Given the description of an element on the screen output the (x, y) to click on. 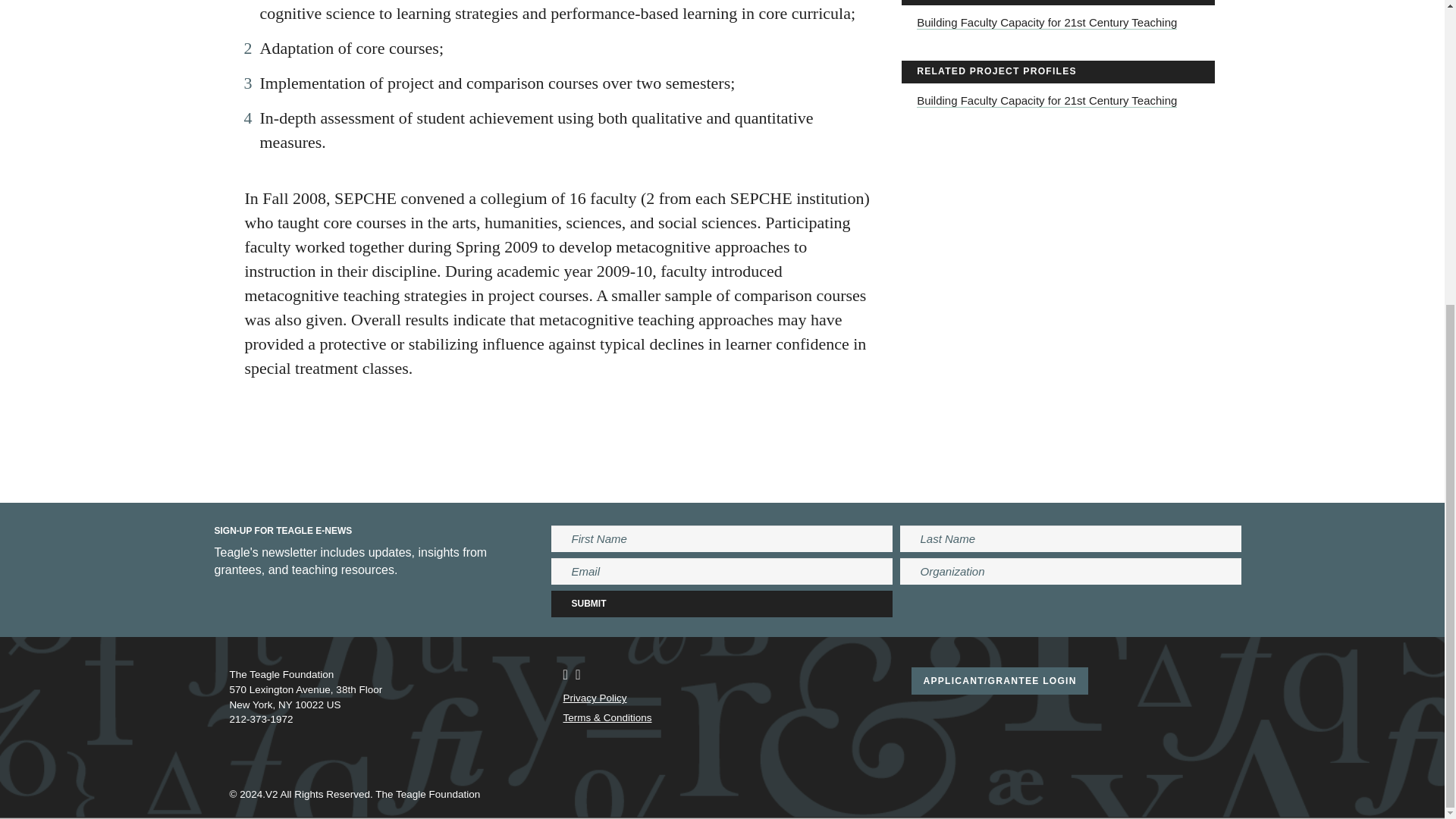
Privacy Policy (594, 697)
Building Faculty Capacity for 21st Century Teaching (1046, 100)
Submit (721, 603)
Building Faculty Capacity for 21st Century Teaching (1046, 22)
Submit (721, 603)
